Given the description of an element on the screen output the (x, y) to click on. 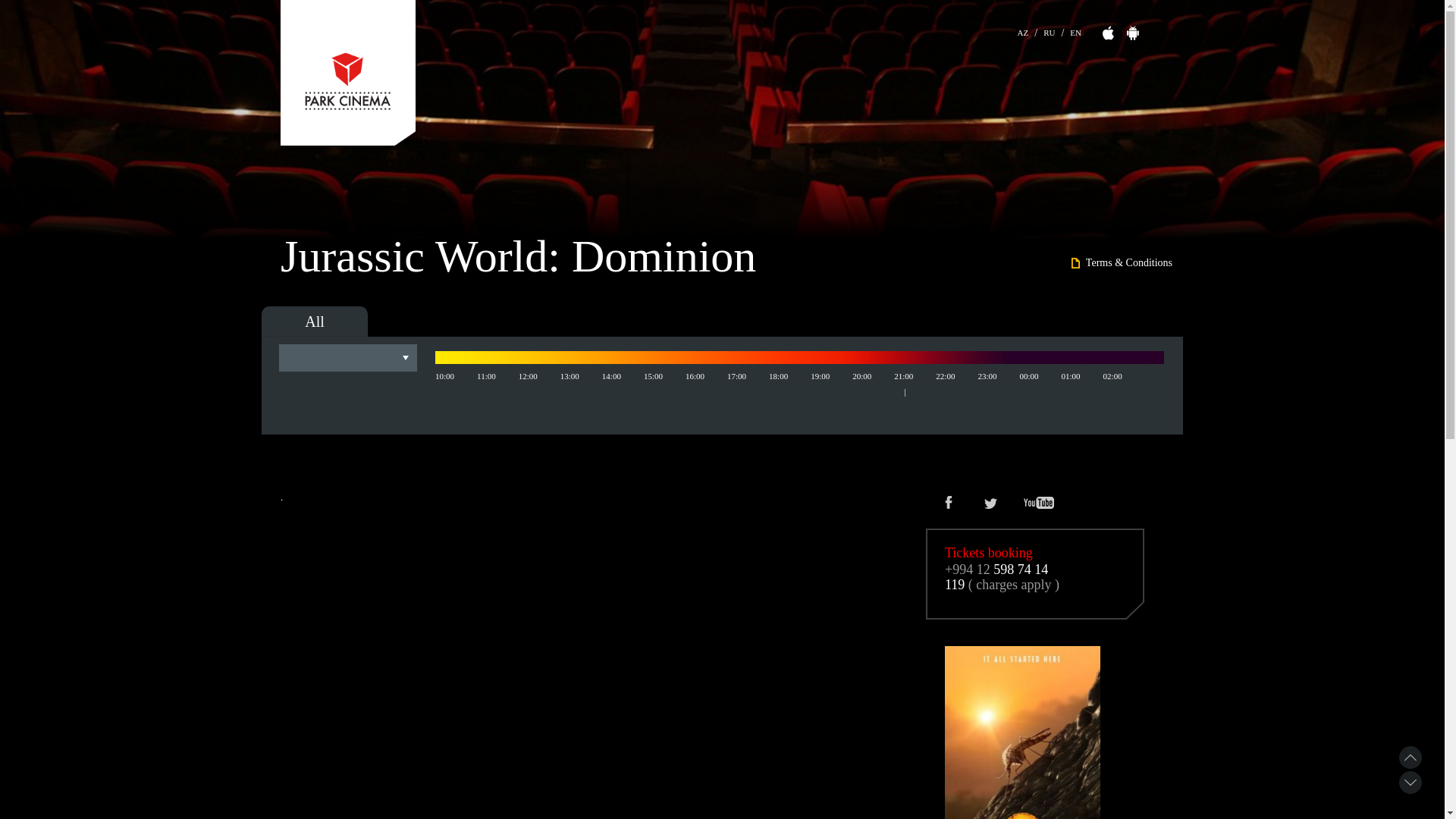
EN Element type: text (1075, 30)
Terms & Conditions Element type: text (1121, 262)
RU Element type: text (1048, 30)
All Element type: text (314, 321)
AZ Element type: text (1023, 30)
